Given the description of an element on the screen output the (x, y) to click on. 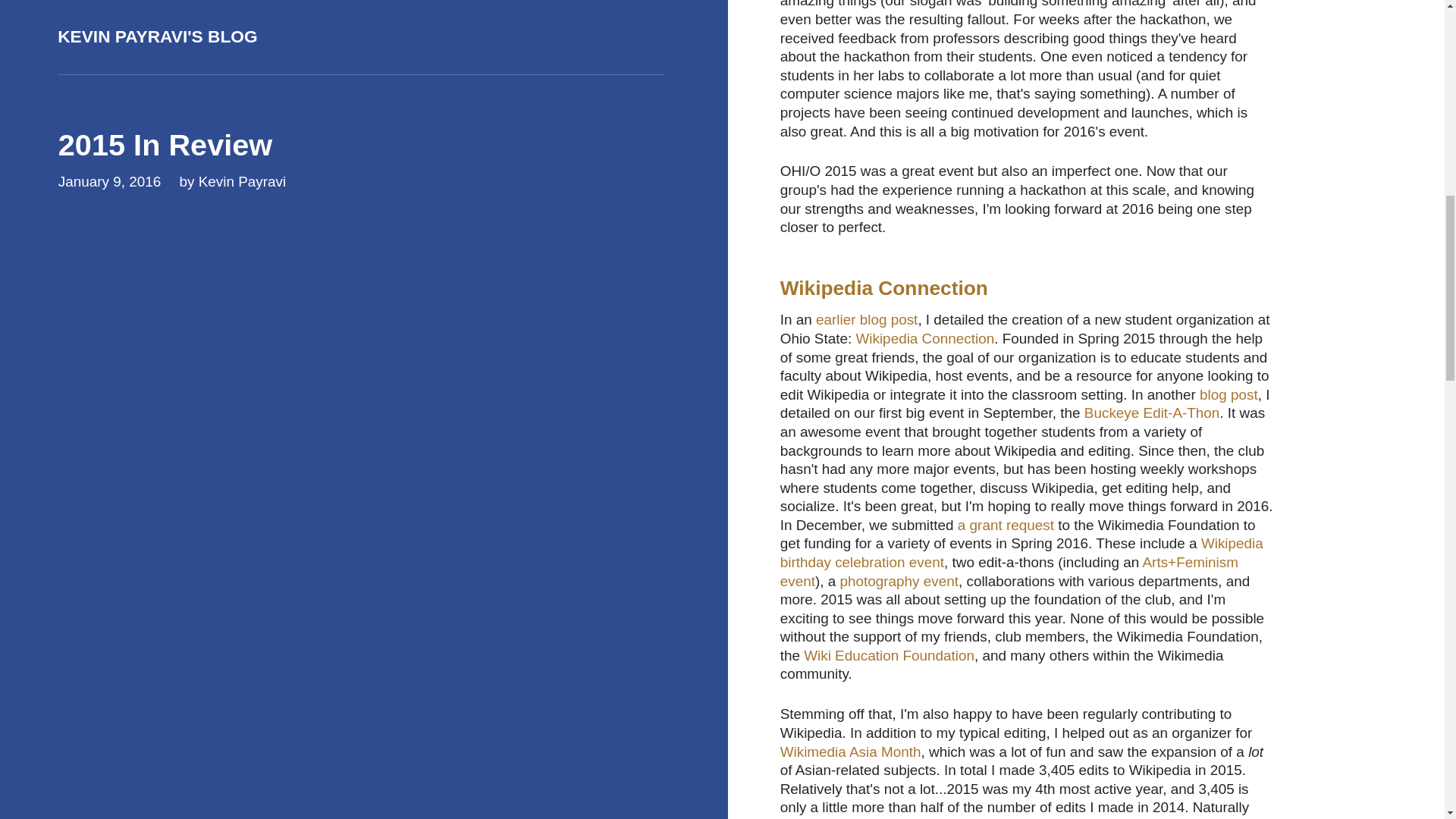
Wiki Education Foundation (888, 655)
Wikipedia Connection (884, 287)
Buckeye Edit-A-Thon (1152, 412)
Wikipedia birthday celebration event (1021, 552)
a grant request (1006, 524)
earlier blog post (866, 319)
photography event (899, 580)
blog post (1228, 394)
Wikimedia Asia Month (850, 751)
Wikipedia Connection (925, 338)
